Given the description of an element on the screen output the (x, y) to click on. 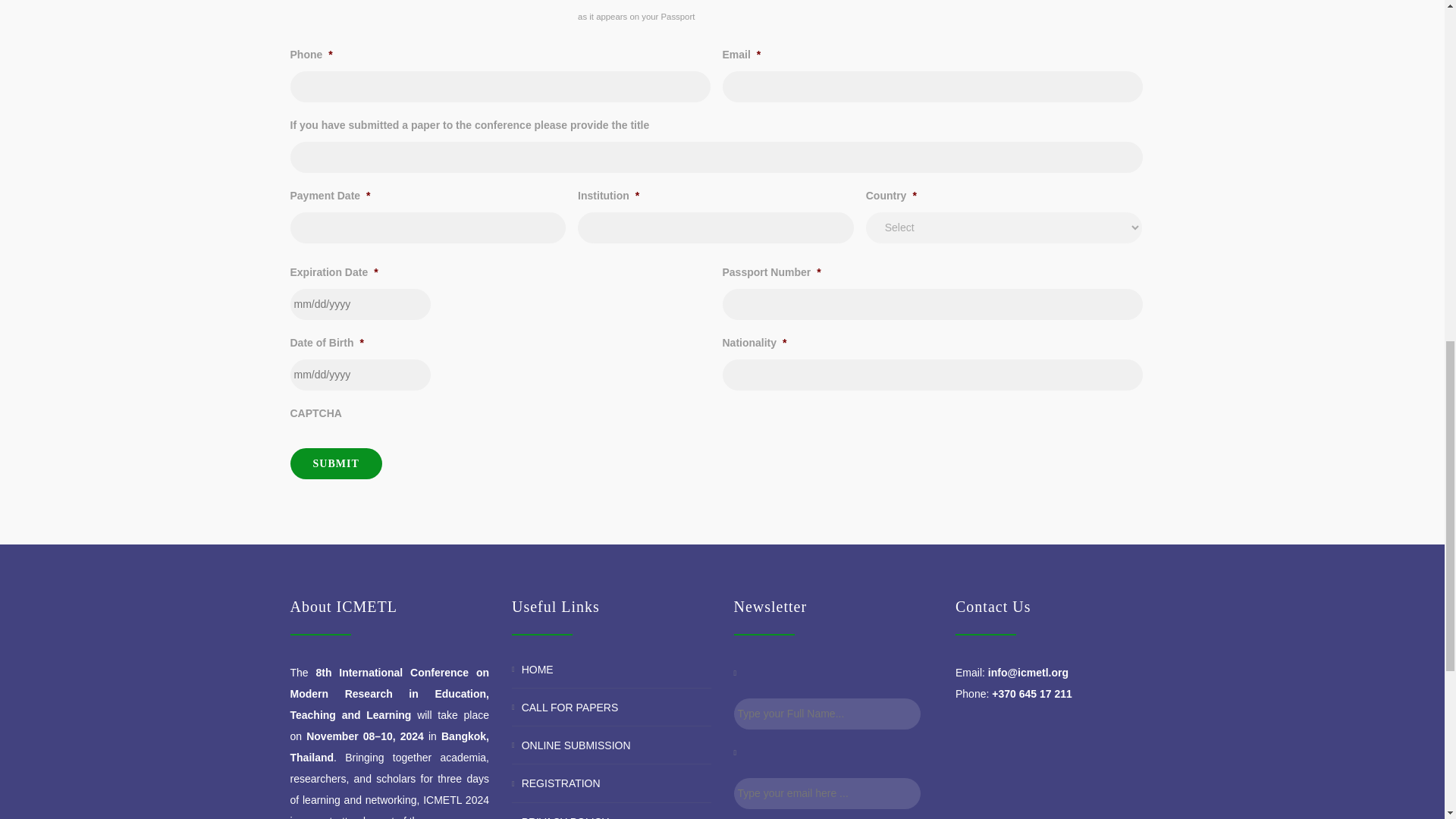
ONLINE SUBMISSION (575, 745)
PRIVACY POLICY (564, 817)
REGISTRATION (560, 784)
CALL FOR PAPERS (569, 707)
Submit (335, 463)
Submit (335, 463)
HOME (537, 669)
